Given the description of an element on the screen output the (x, y) to click on. 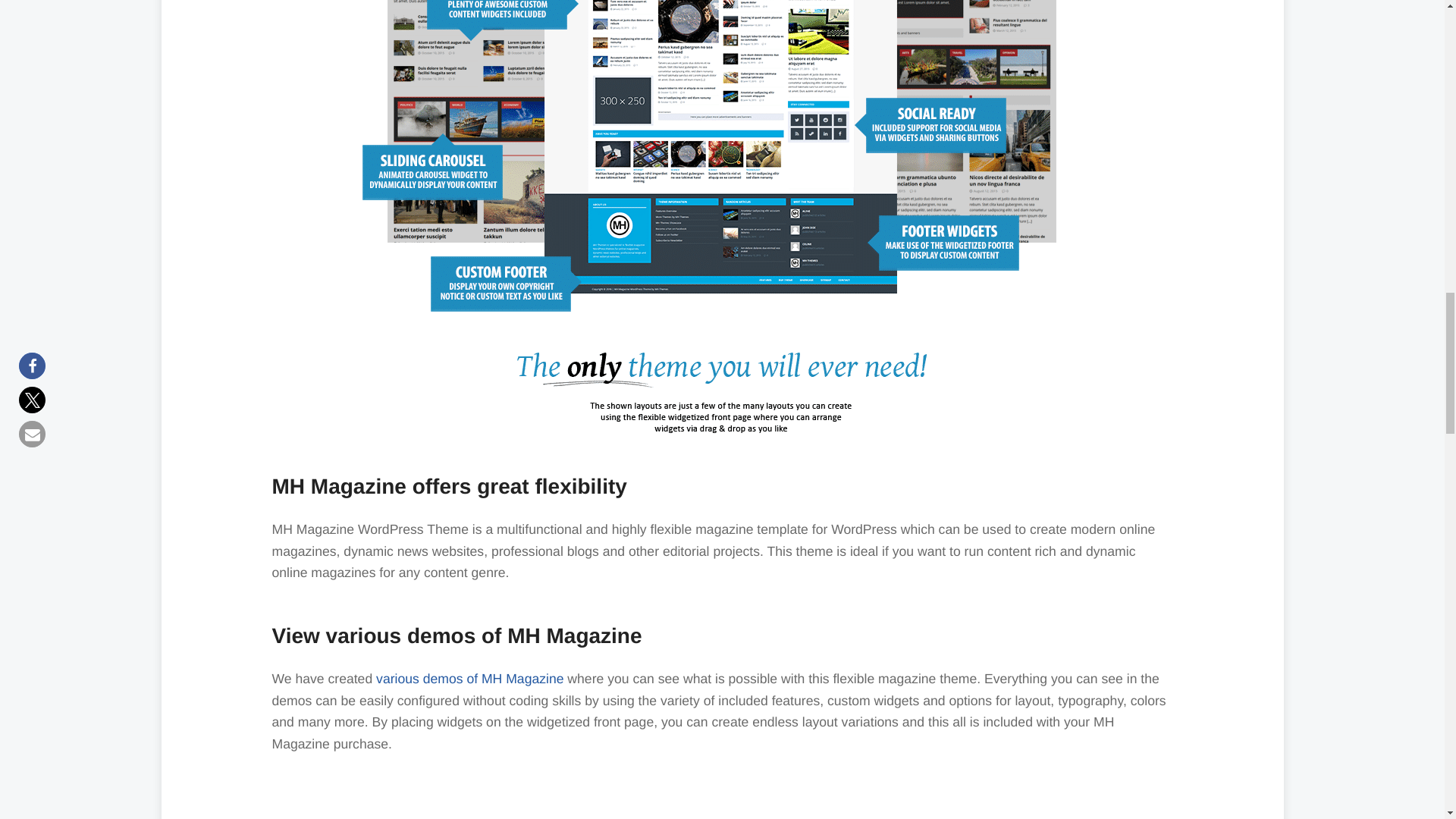
various demos of MH Magazine (469, 678)
